Given the description of an element on the screen output the (x, y) to click on. 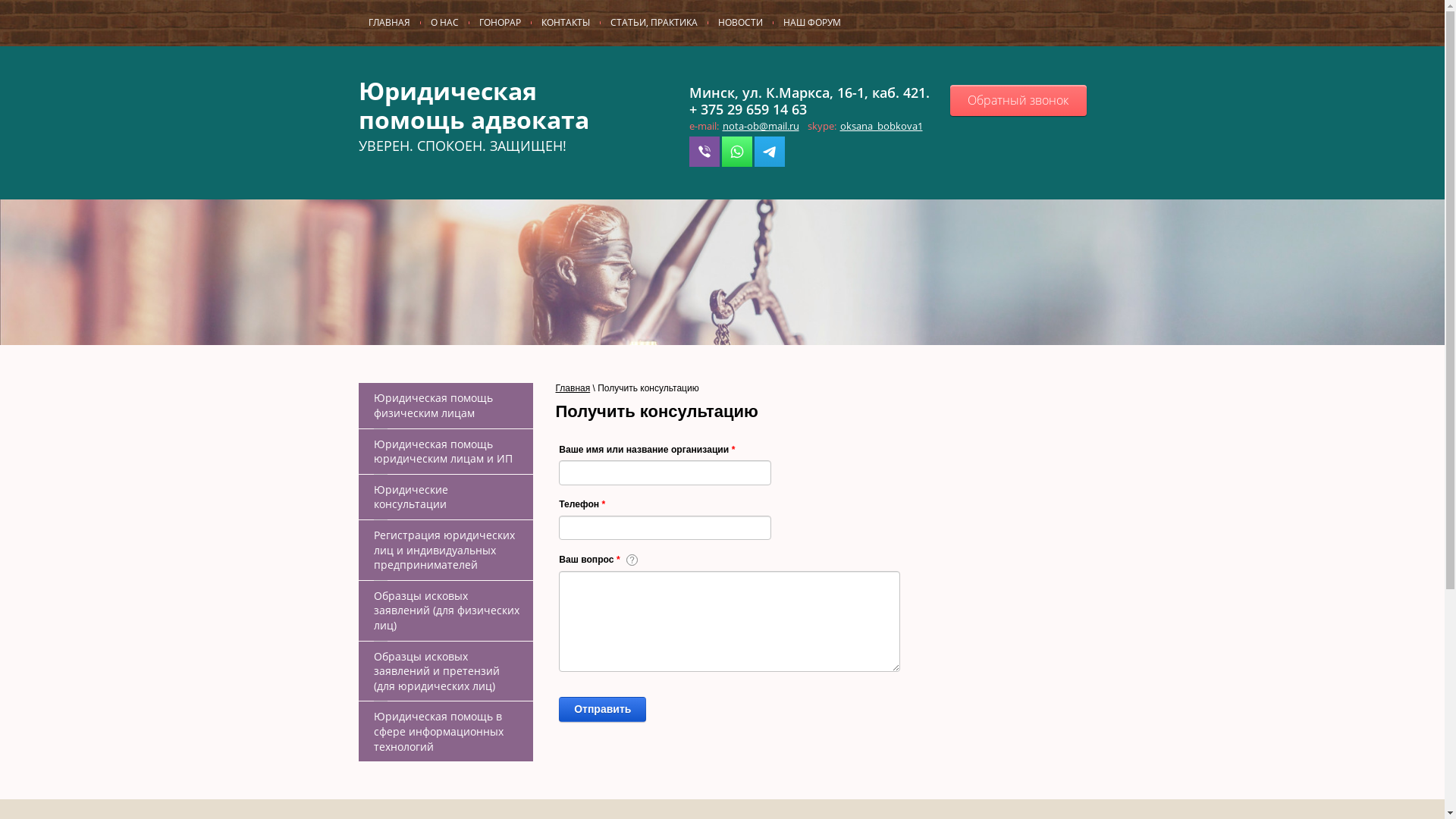
+ 375 29 659 14 63 Element type: text (747, 109)
oksana_bobkova1 Element type: text (881, 125)
nota-ob@mail.ru Element type: text (759, 125)
